Given the description of an element on the screen output the (x, y) to click on. 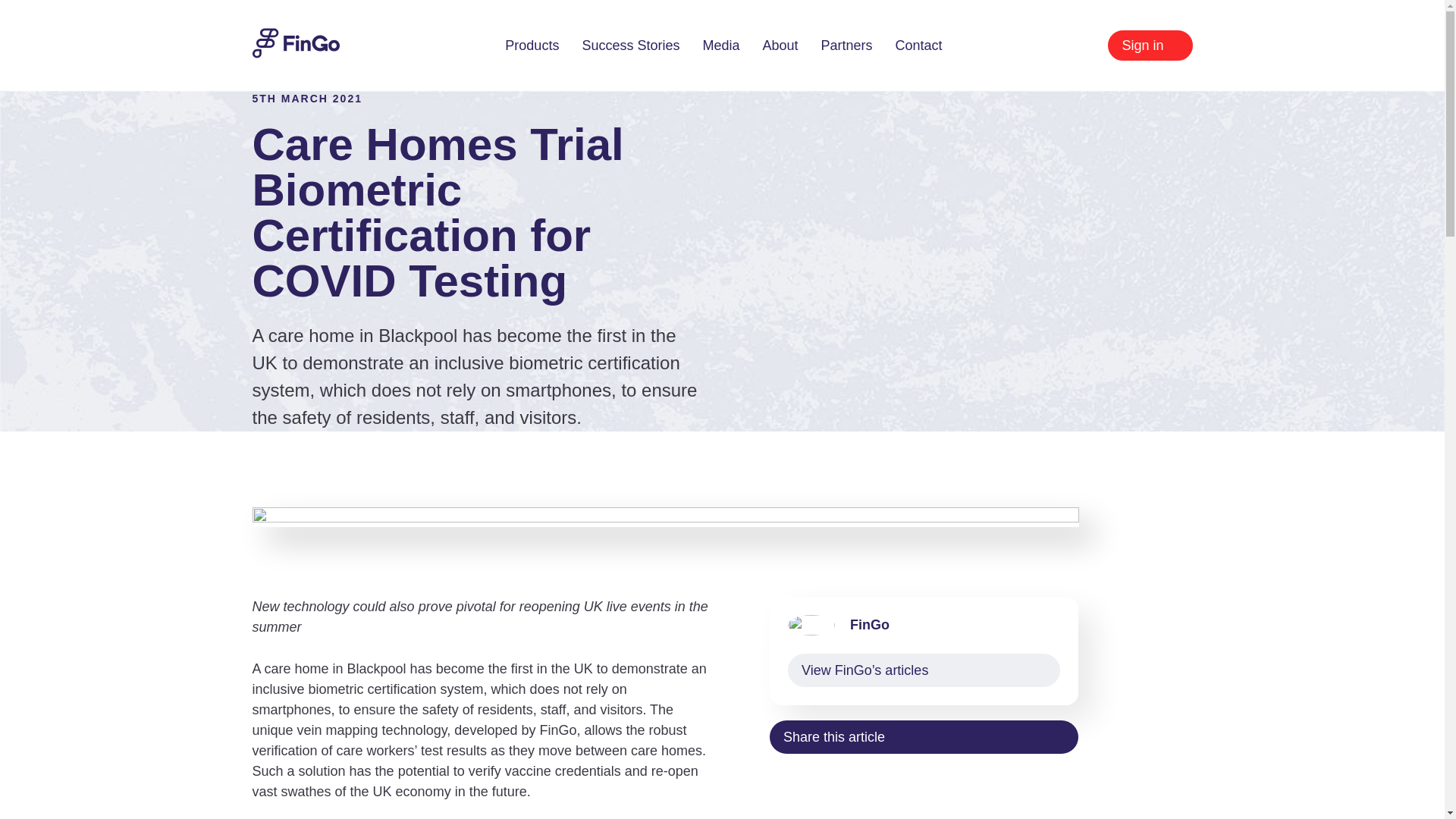
Success Stories (629, 45)
Sign in (1150, 45)
Share this article (924, 736)
